Given the description of an element on the screen output the (x, y) to click on. 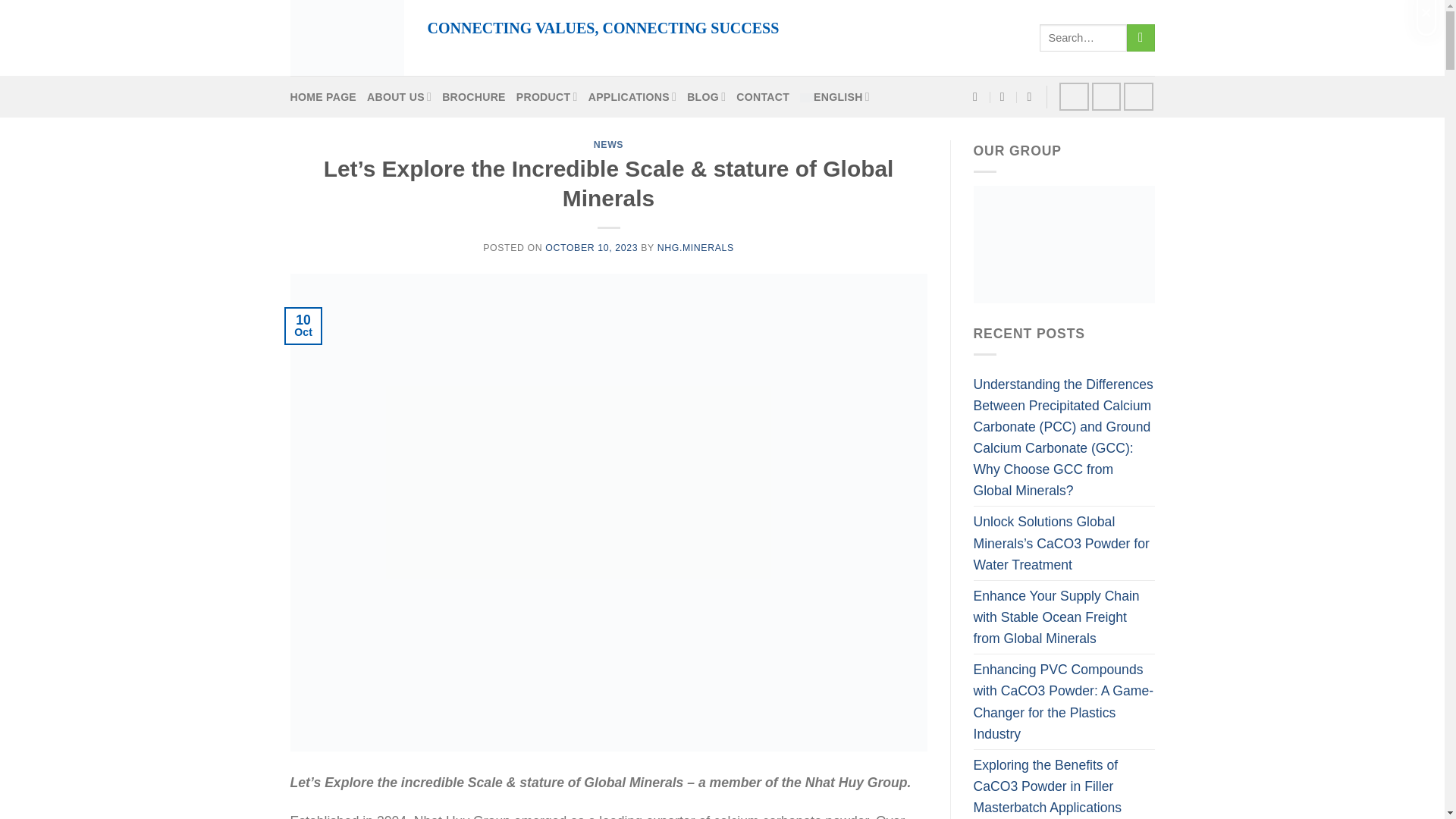
HOME PAGE (322, 96)
Vin Carb - Value Connection, Success Connection (346, 37)
Follow on Facebook (1074, 95)
Search (1140, 38)
ENGLISH (834, 96)
NEWS (608, 144)
BLOG (706, 96)
APPLICATIONS (632, 96)
BROCHURE (473, 96)
OCTOBER 10, 2023 (590, 247)
